Given the description of an element on the screen output the (x, y) to click on. 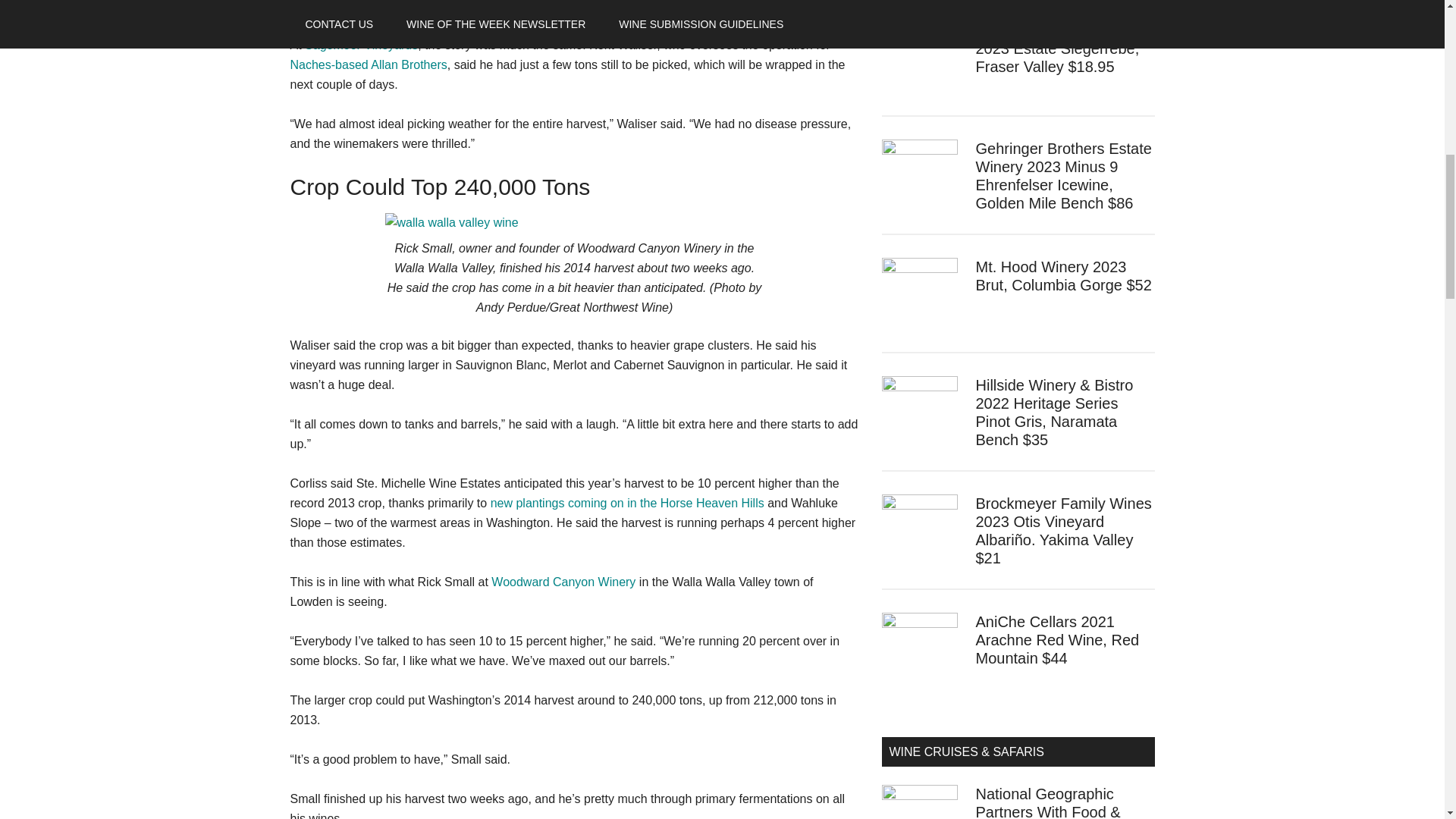
Great Northwest Destination Wineries: Woodward Canyon Winery (563, 581)
King Cab rides high in Horse Heaven Hills (627, 502)
Sagemoor Vineyards sold to Allan Brothers (367, 64)
